Given the description of an element on the screen output the (x, y) to click on. 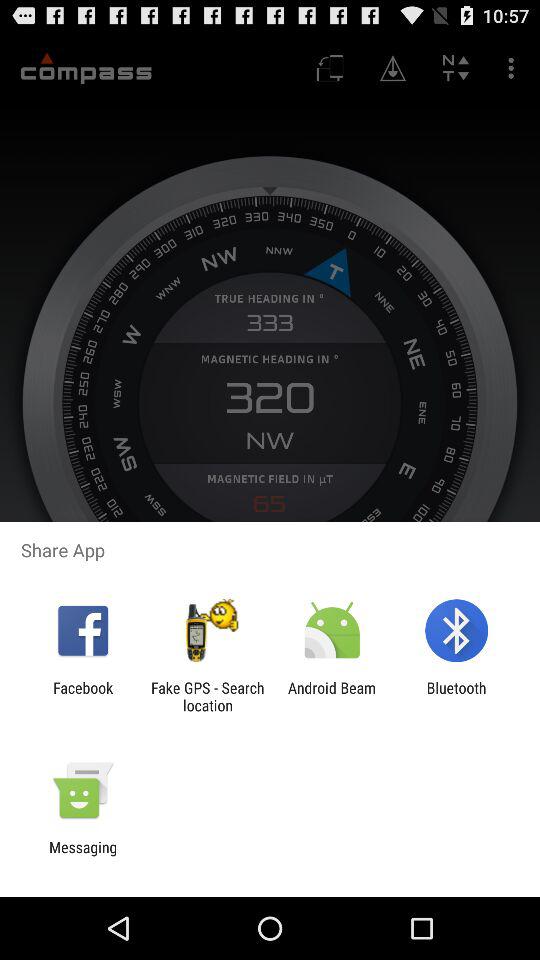
launch app to the right of fake gps search icon (332, 696)
